Given the description of an element on the screen output the (x, y) to click on. 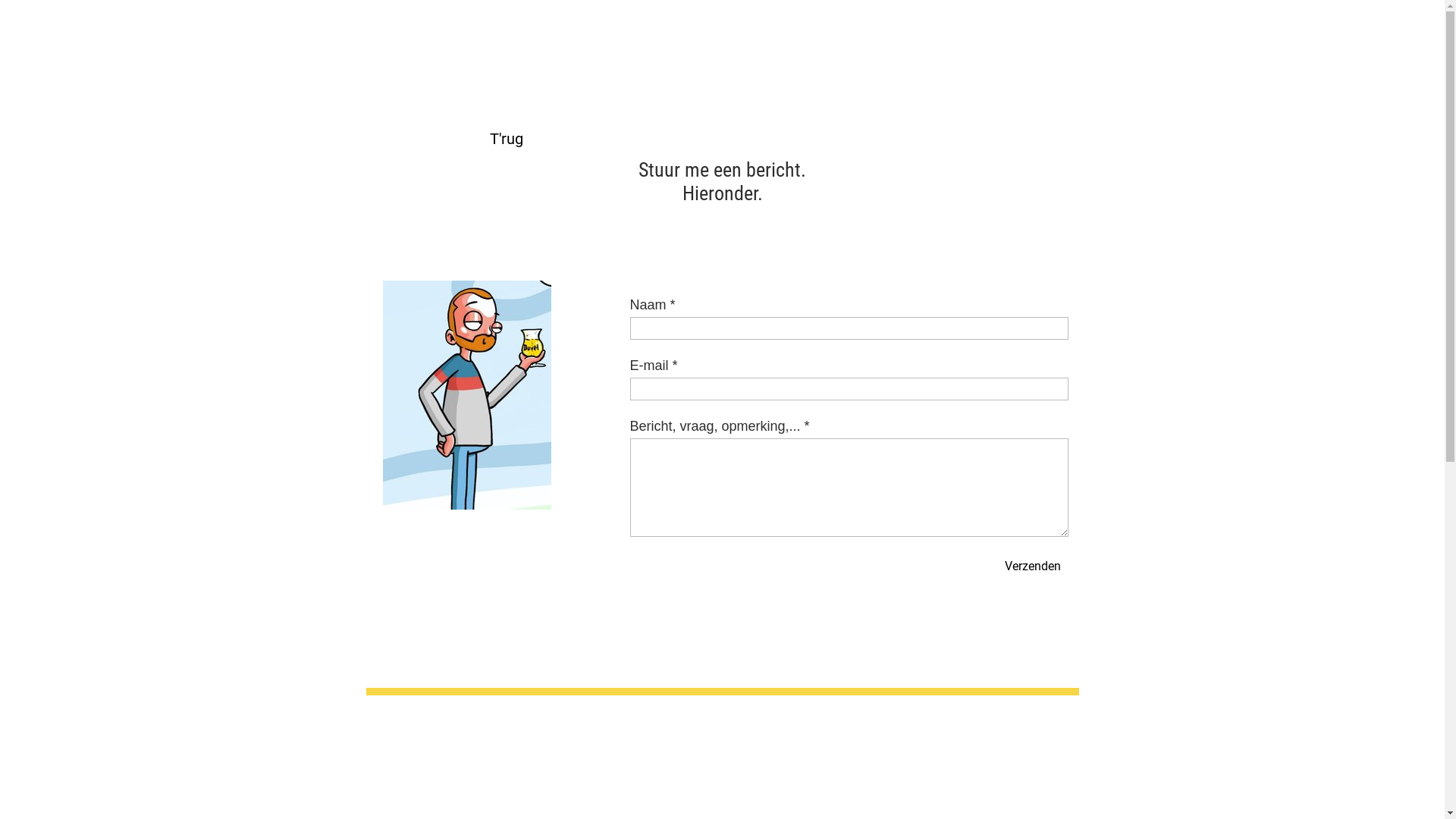
T'rug Element type: text (505, 138)
Verzenden Element type: text (1031, 565)
